Given the description of an element on the screen output the (x, y) to click on. 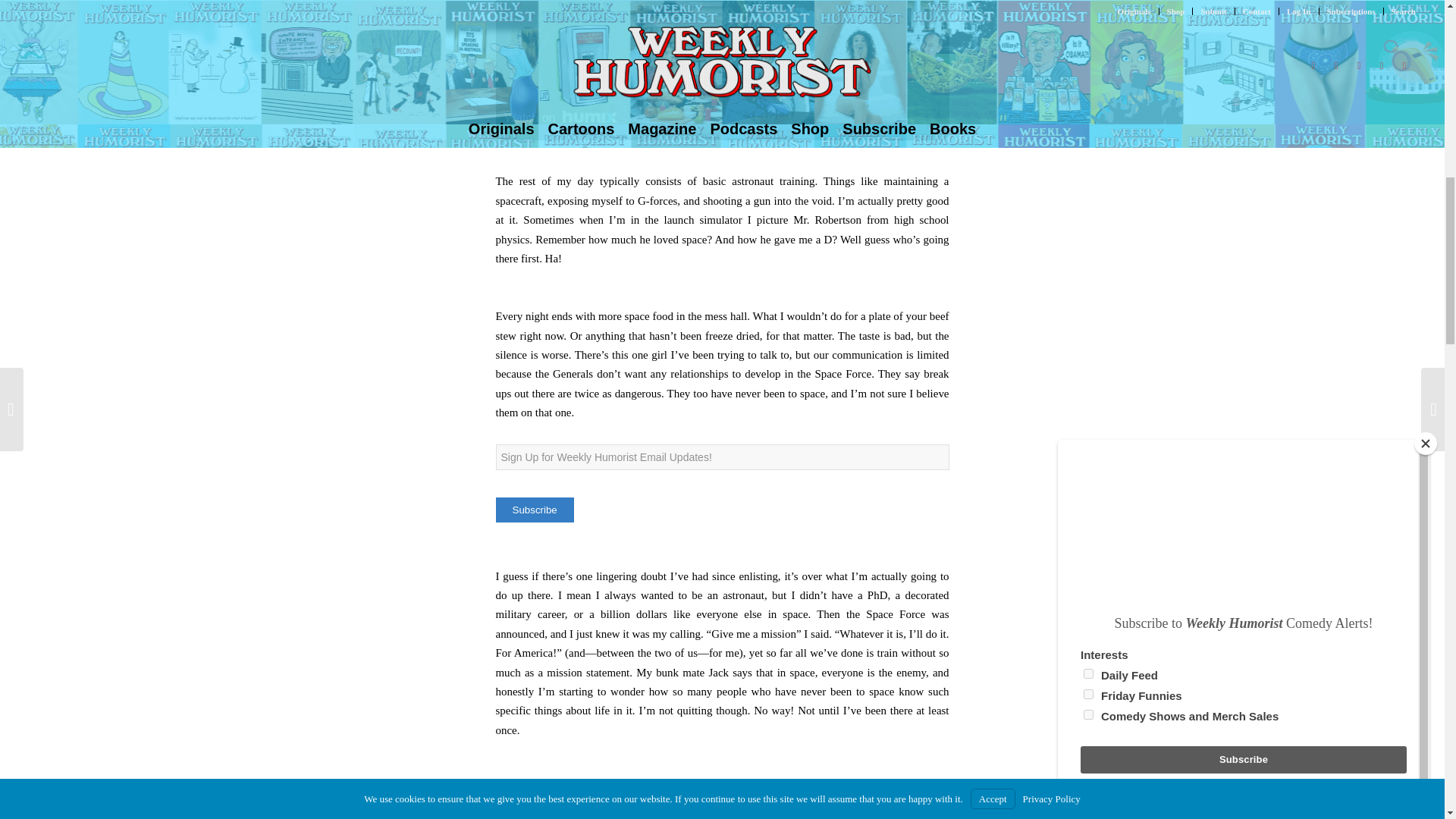
Subscribe (534, 509)
Subscribe (534, 509)
Watch on (561, 117)
